Given the description of an element on the screen output the (x, y) to click on. 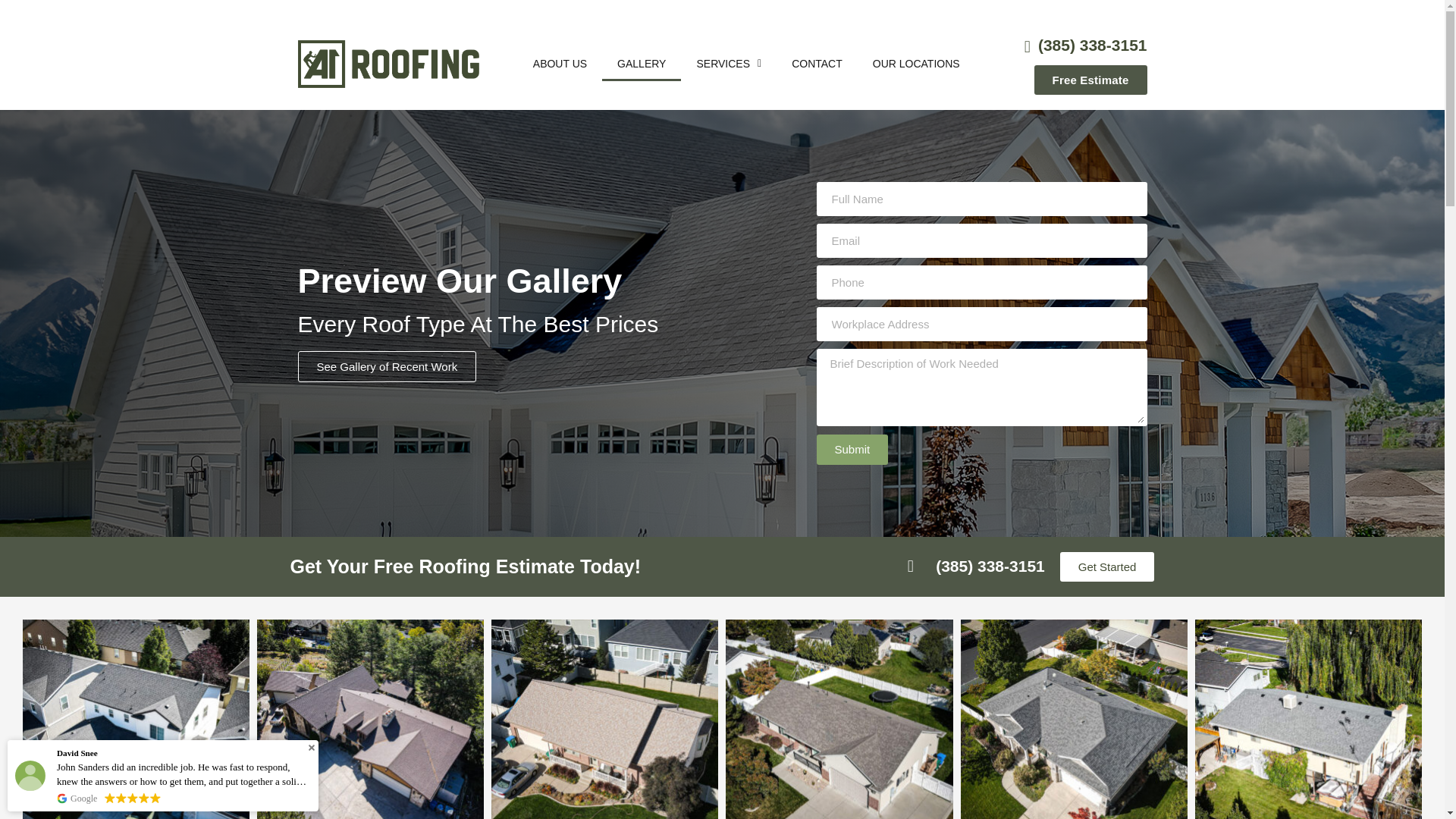
OUR LOCATIONS (916, 63)
See Gallery of Recent Work (386, 366)
CONTACT (816, 63)
Submit (851, 449)
GALLERY (641, 63)
ABOUT US (560, 63)
Free Estimate (1090, 80)
Get Started (1106, 566)
SERVICES (728, 63)
